Given the description of an element on the screen output the (x, y) to click on. 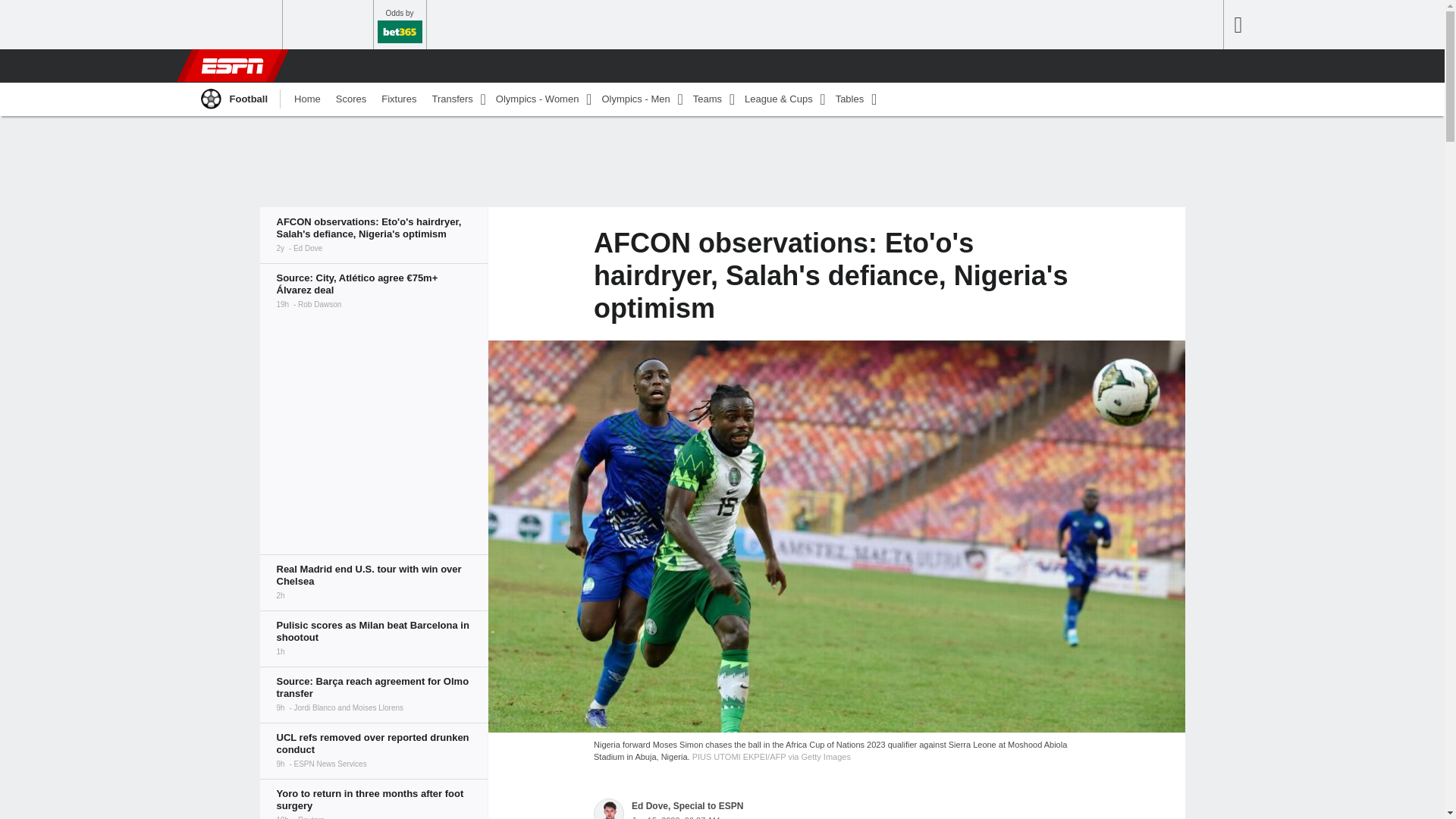
Odds by (399, 24)
ESPN (231, 65)
